Given the description of an element on the screen output the (x, y) to click on. 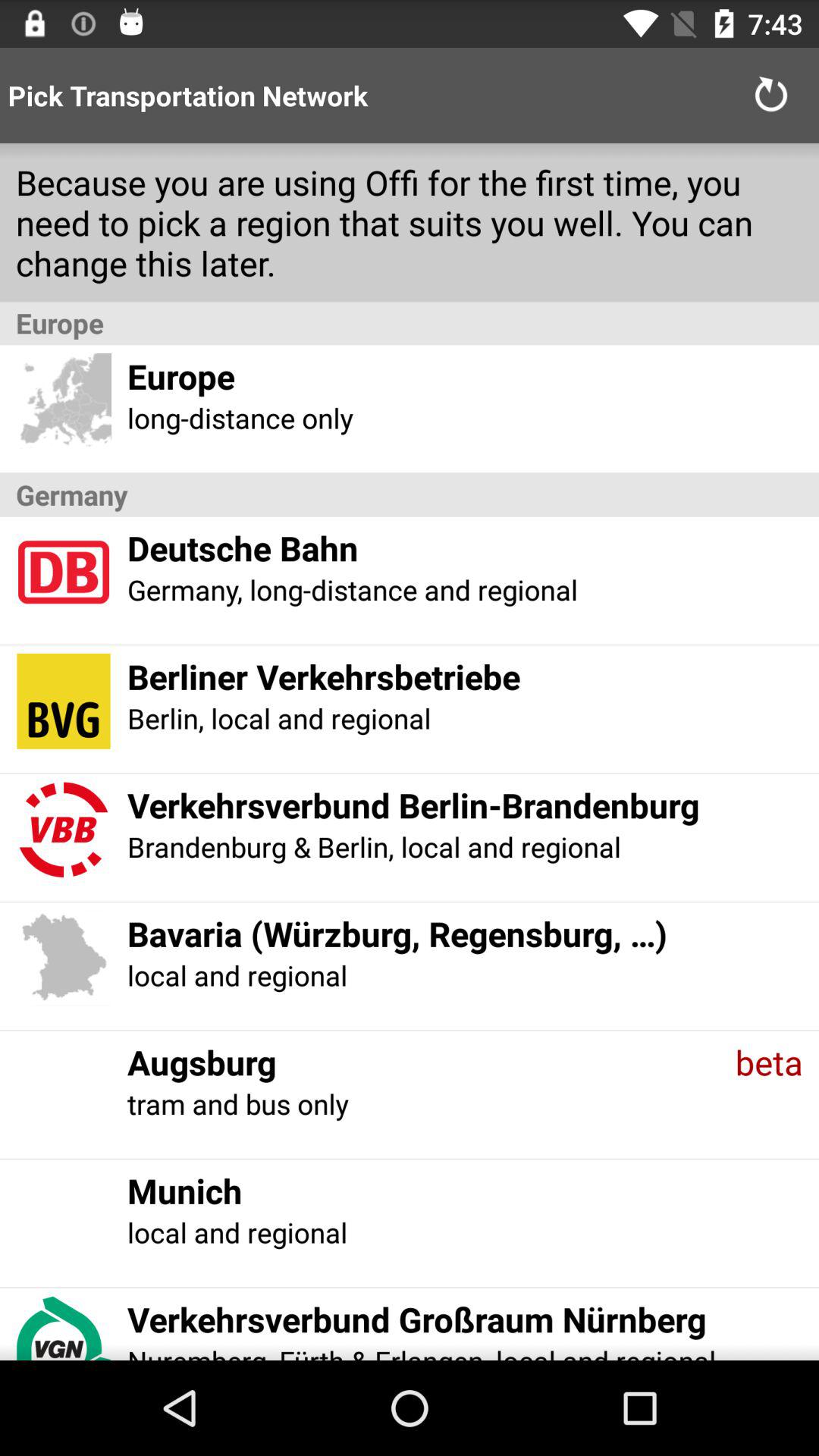
tap item next to pick transportation network icon (771, 95)
